Given the description of an element on the screen output the (x, y) to click on. 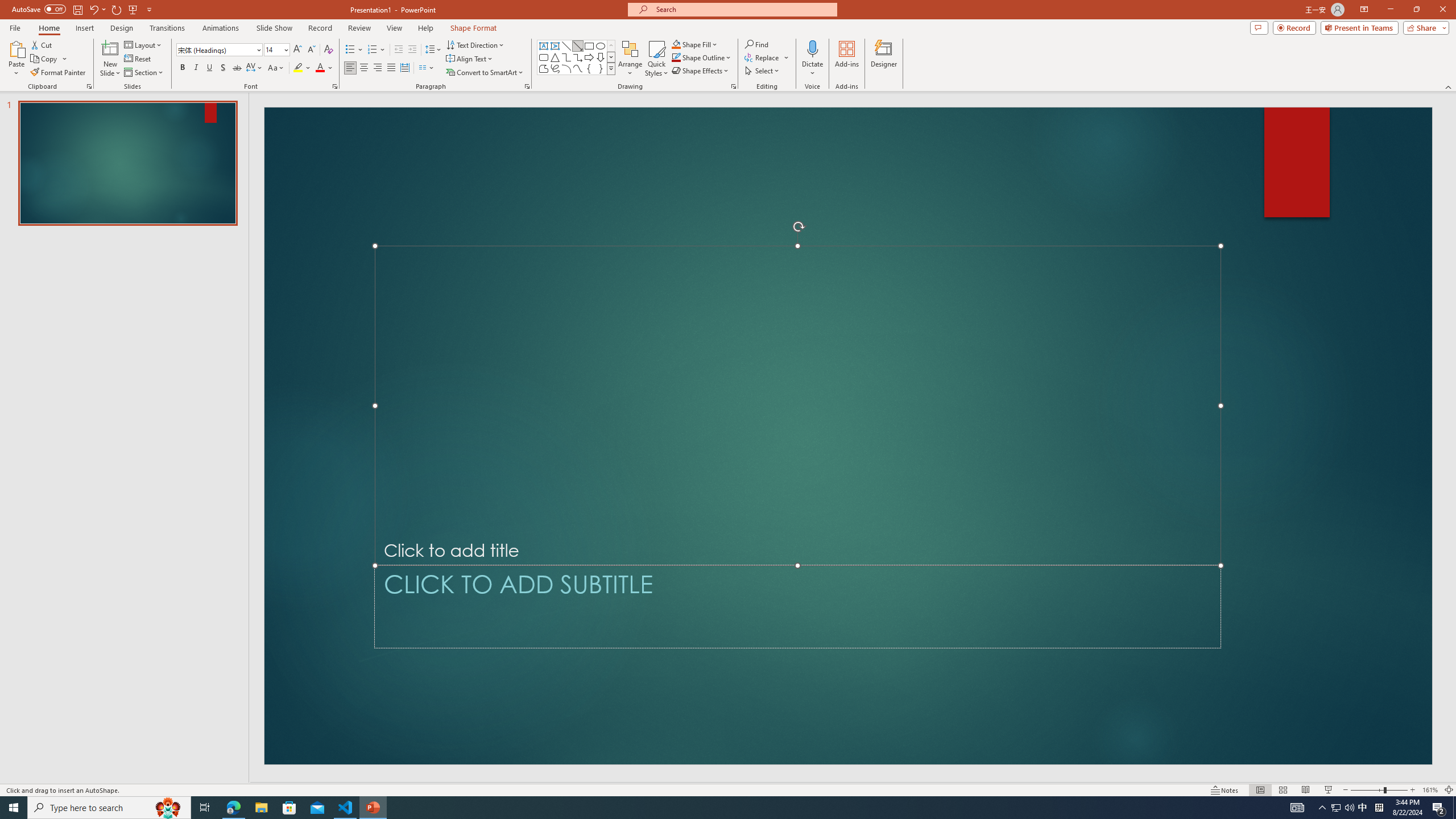
Zoom 161% (1430, 790)
